Given the description of an element on the screen output the (x, y) to click on. 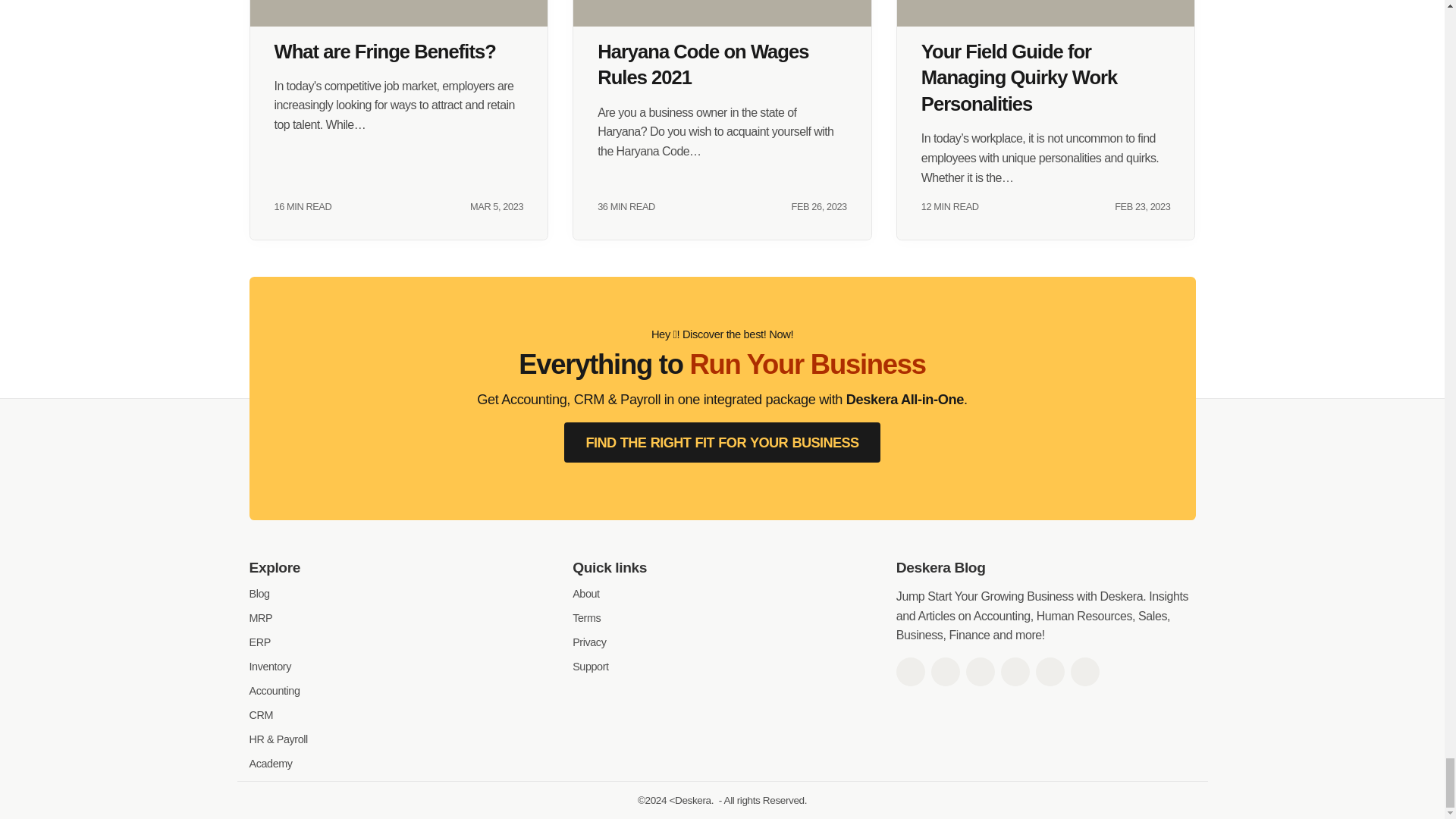
Github (1049, 671)
Your Field Guide for Managing Quirky Work Personalities (1045, 13)
What are Fringe Benefits? (399, 13)
Deskera YouTube (1015, 671)
Deskera Linkedin (980, 671)
Facebook (910, 671)
Haryana Code on Wages Rules 2021 (721, 13)
Twitter (945, 671)
RSS (1084, 671)
